Given the description of an element on the screen output the (x, y) to click on. 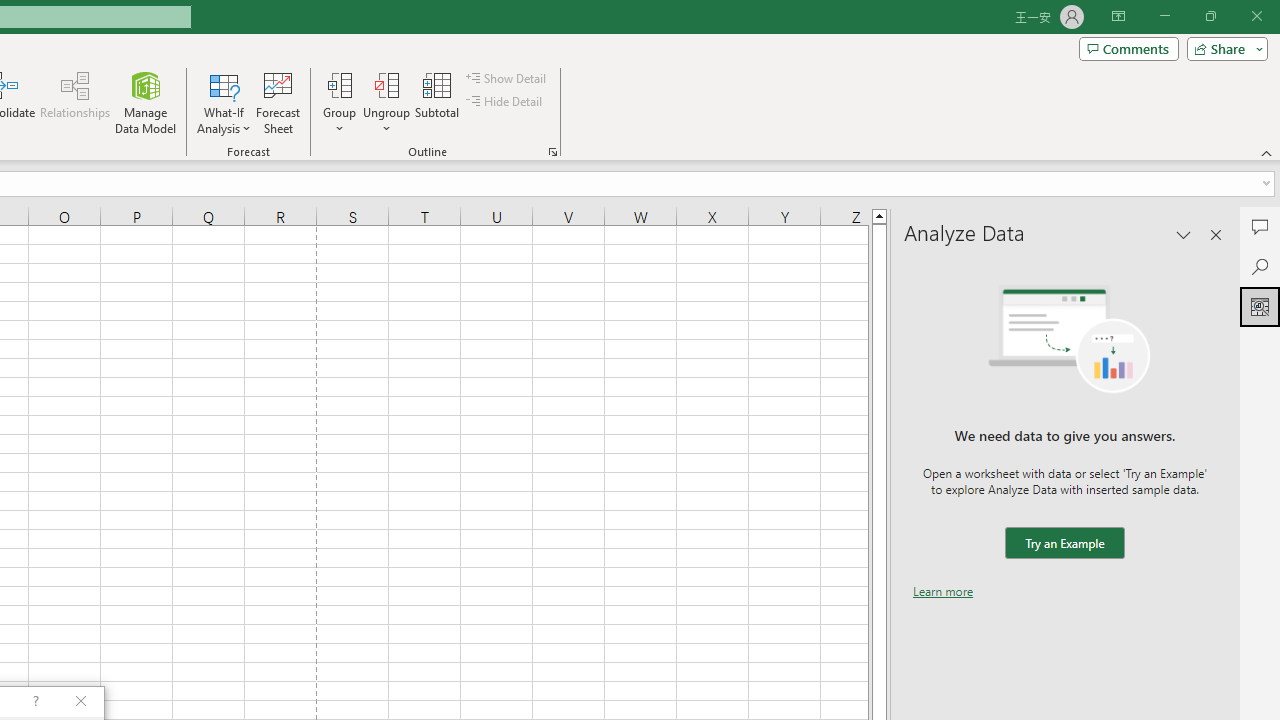
Learn more (943, 591)
